Given the description of an element on the screen output the (x, y) to click on. 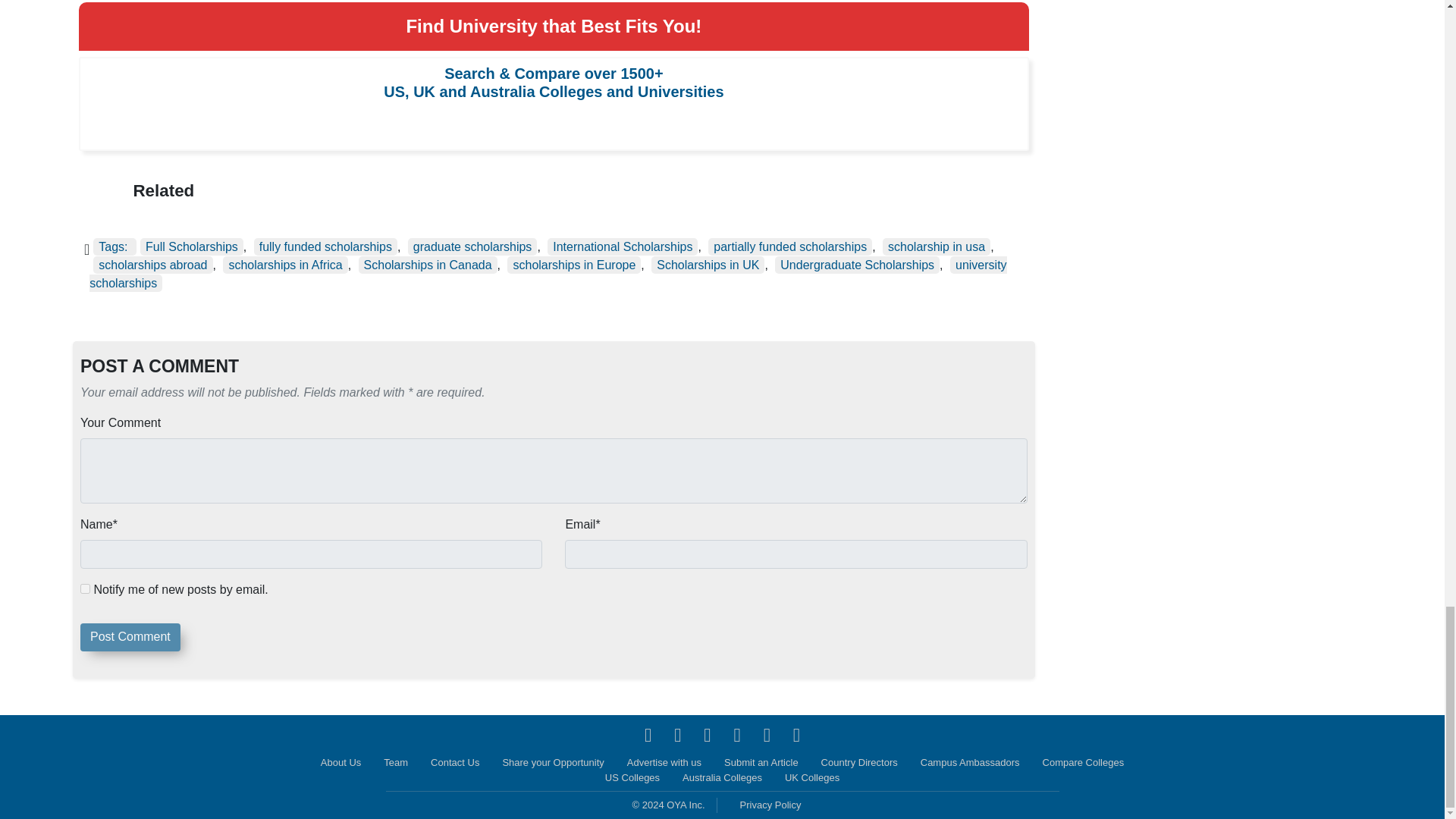
Post Comment (130, 637)
subscribe (85, 588)
